Given the description of an element on the screen output the (x, y) to click on. 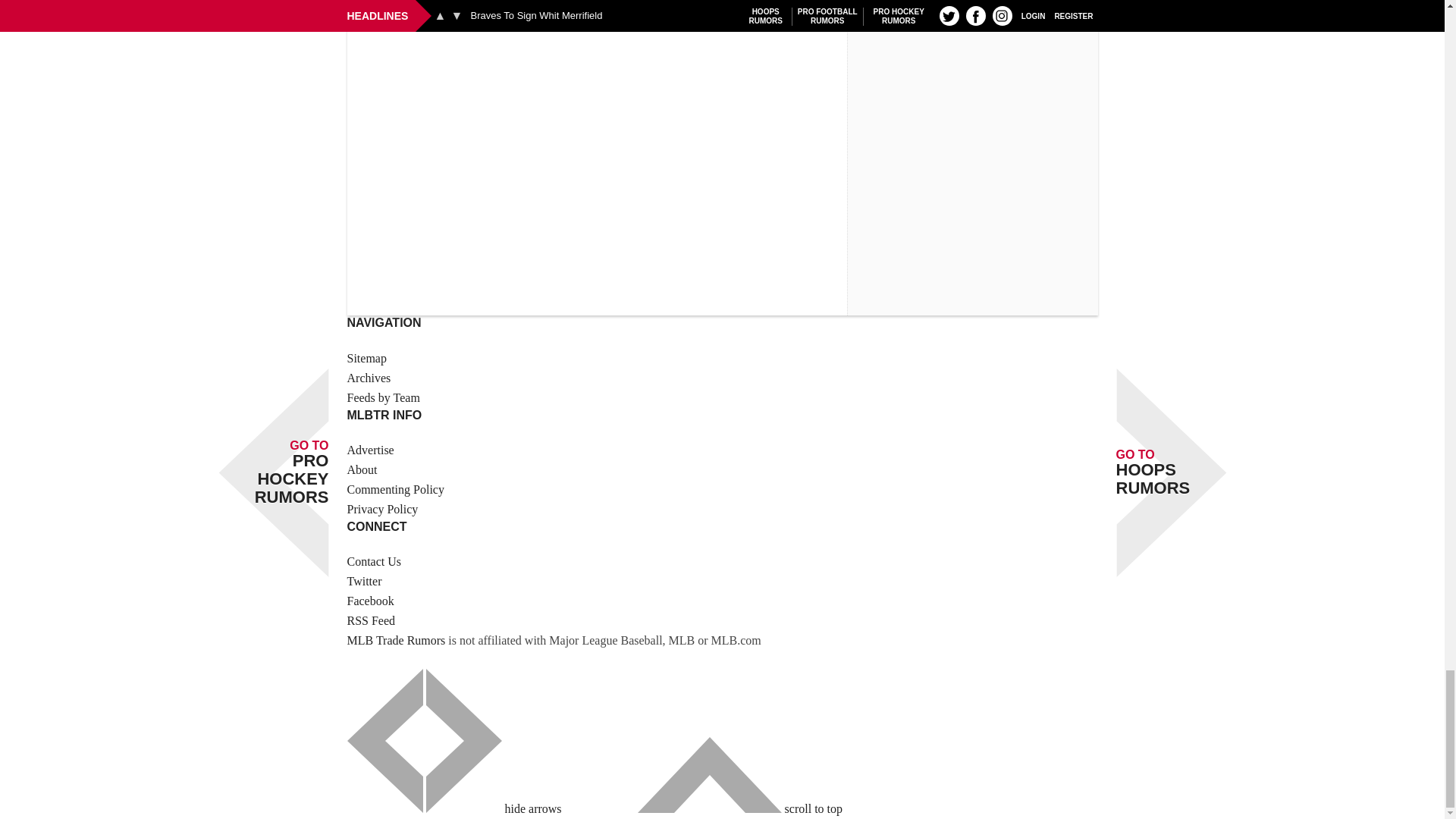
MLB Trade Rumors (396, 640)
